Given the description of an element on the screen output the (x, y) to click on. 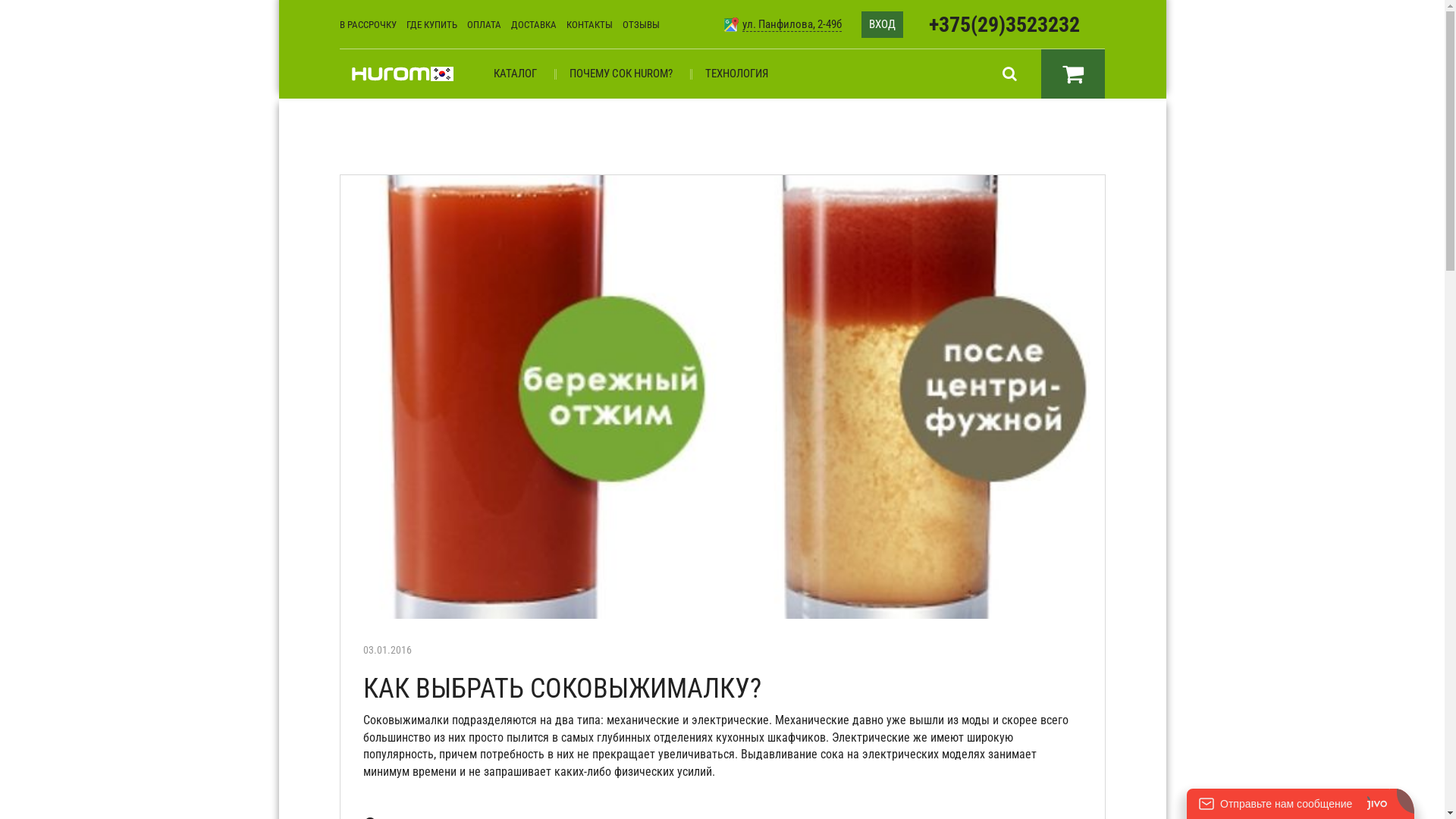
+375(29)3523232 Element type: text (1003, 24)
